Given the description of an element on the screen output the (x, y) to click on. 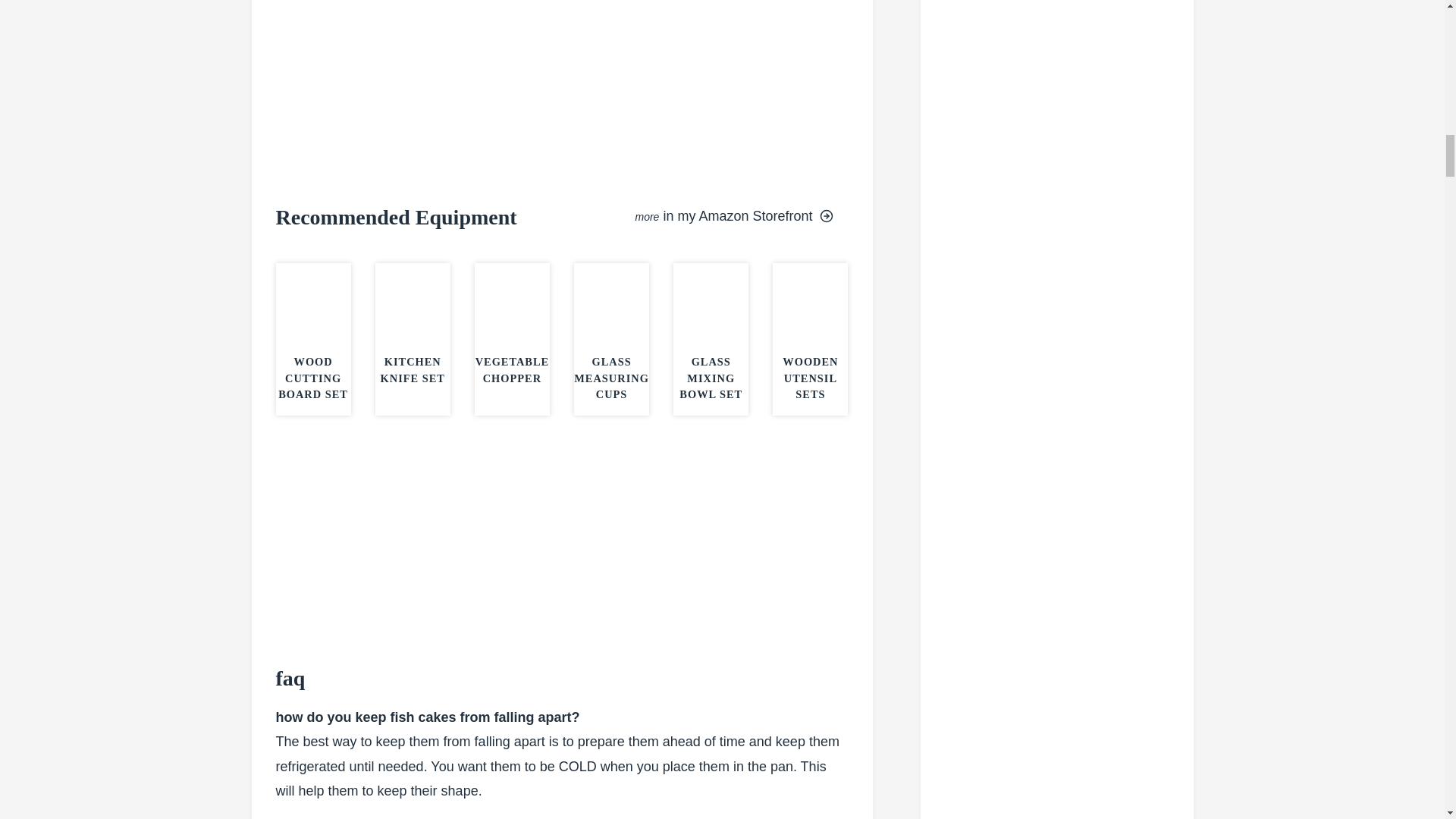
GLASS MIXING BOWL SET (710, 377)
KITCHEN KNIFE SET (412, 369)
WOODEN UTENSIL SETS (810, 377)
WOOD CUTTING BOARD SET (312, 377)
GLASS MEASURING CUPS (611, 377)
VEGETABLE CHOPPER (513, 369)
